Given the description of an element on the screen output the (x, y) to click on. 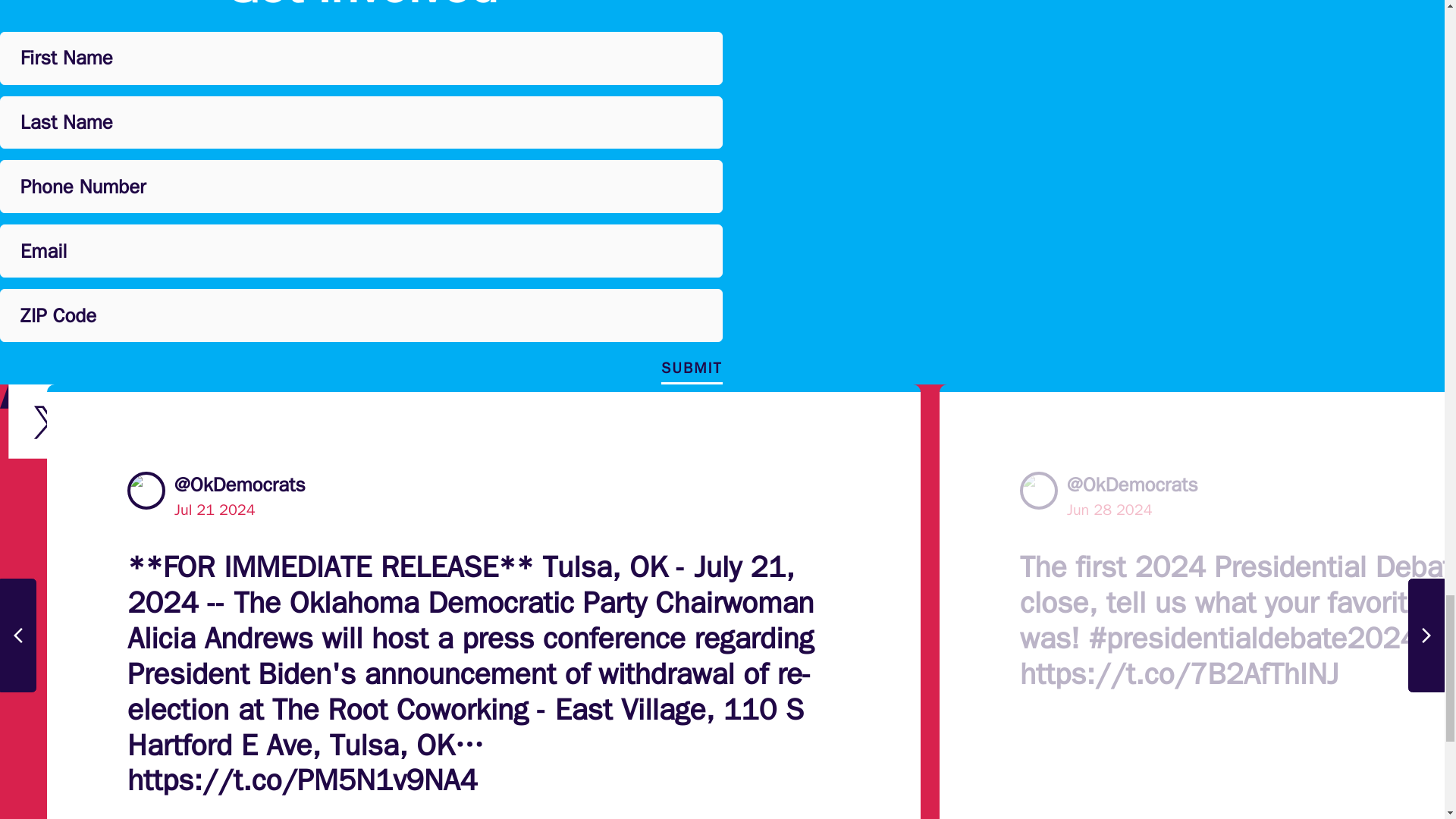
OkDemocrats (146, 490)
SUBMIT (691, 370)
OkDemocrats (1039, 490)
